Given the description of an element on the screen output the (x, y) to click on. 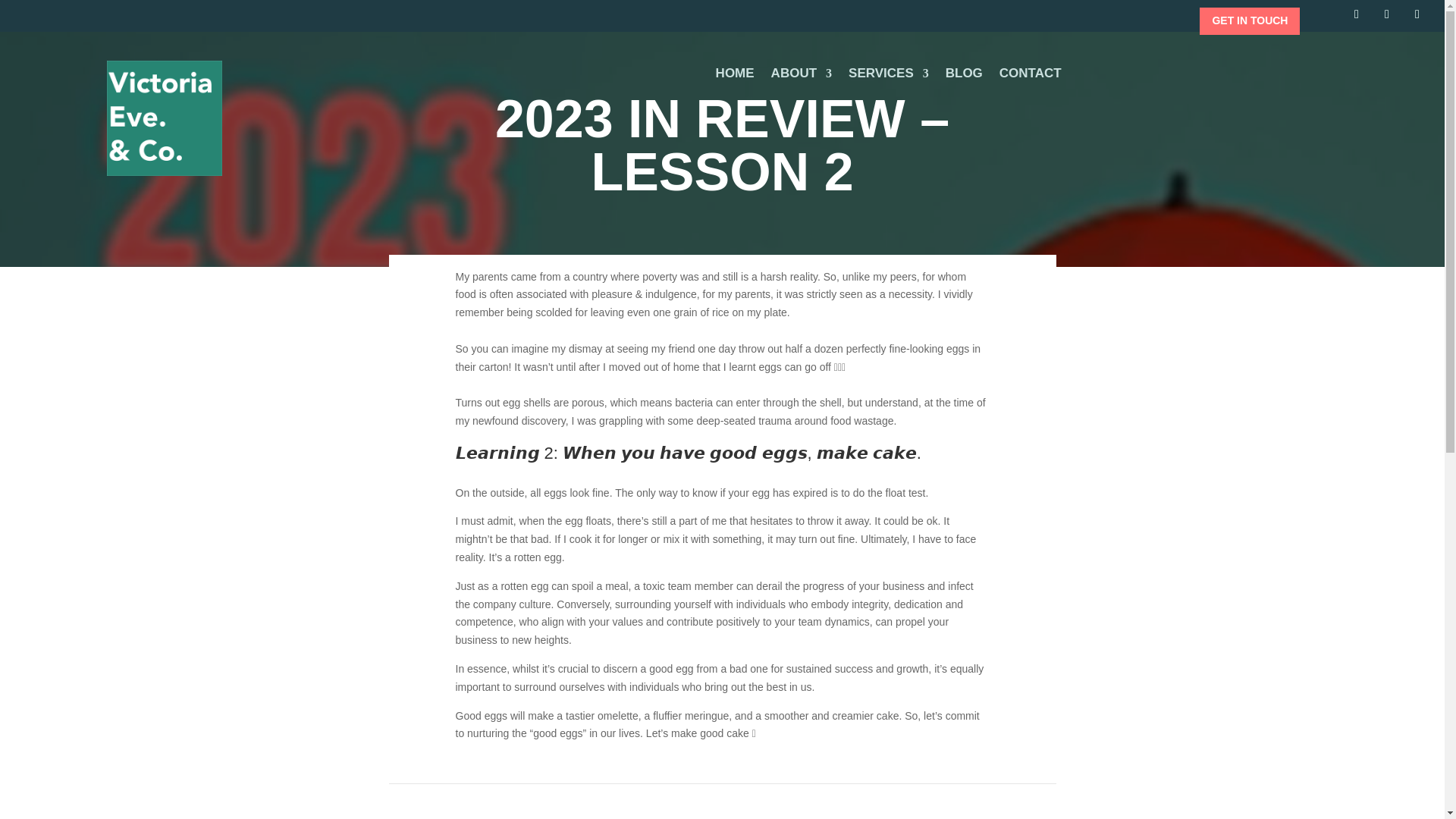
Follow on Facebook (1355, 14)
HOME (735, 76)
BLOG (963, 76)
CONTACT (1029, 76)
Follow on LinkedIn (1417, 14)
ABOUT (801, 76)
SERVICES (888, 76)
Follow on Instagram (1386, 14)
GET IN TOUCH (1249, 21)
